Given the description of an element on the screen output the (x, y) to click on. 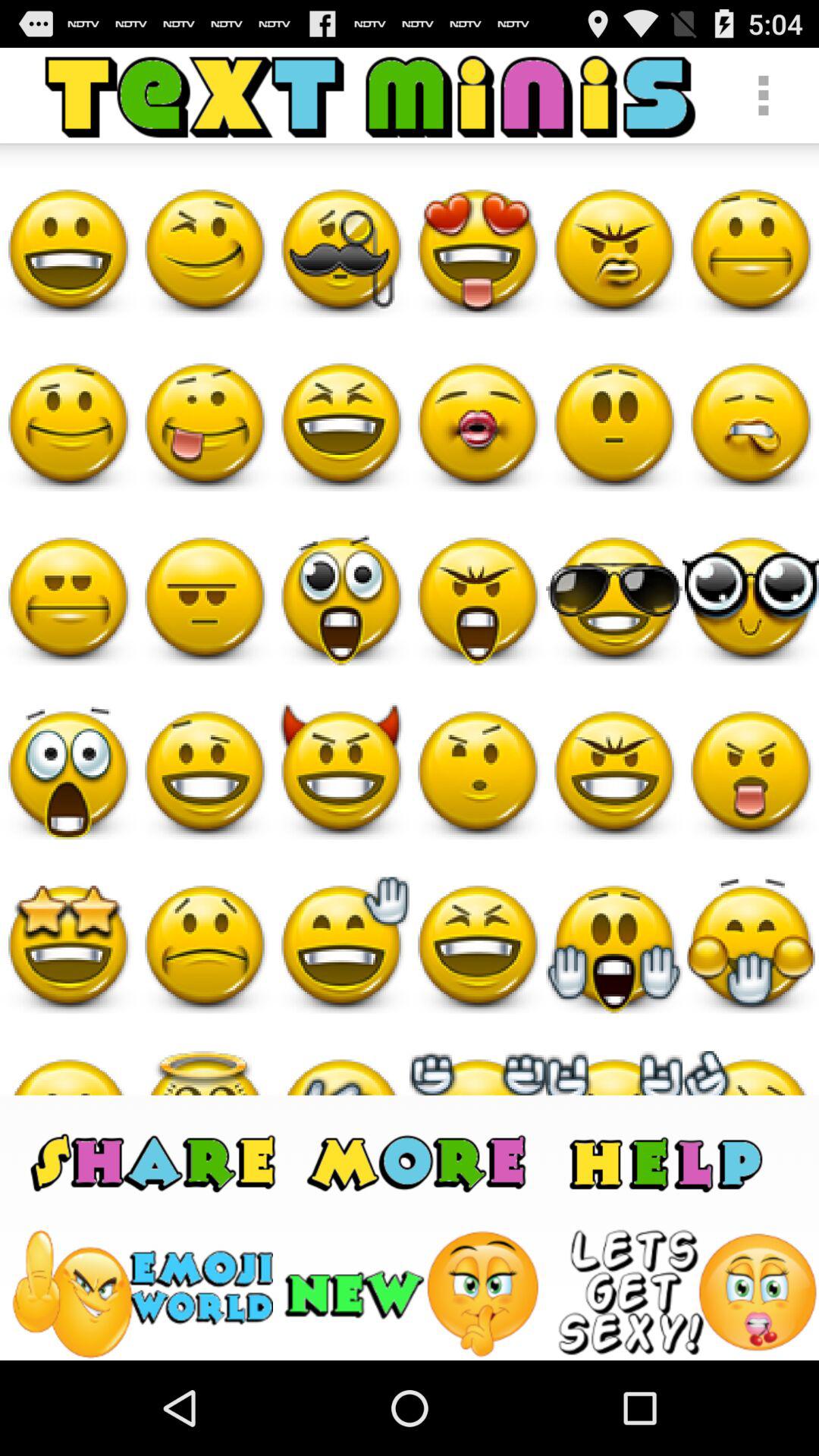
show more emotes (419, 1161)
